Given the description of an element on the screen output the (x, y) to click on. 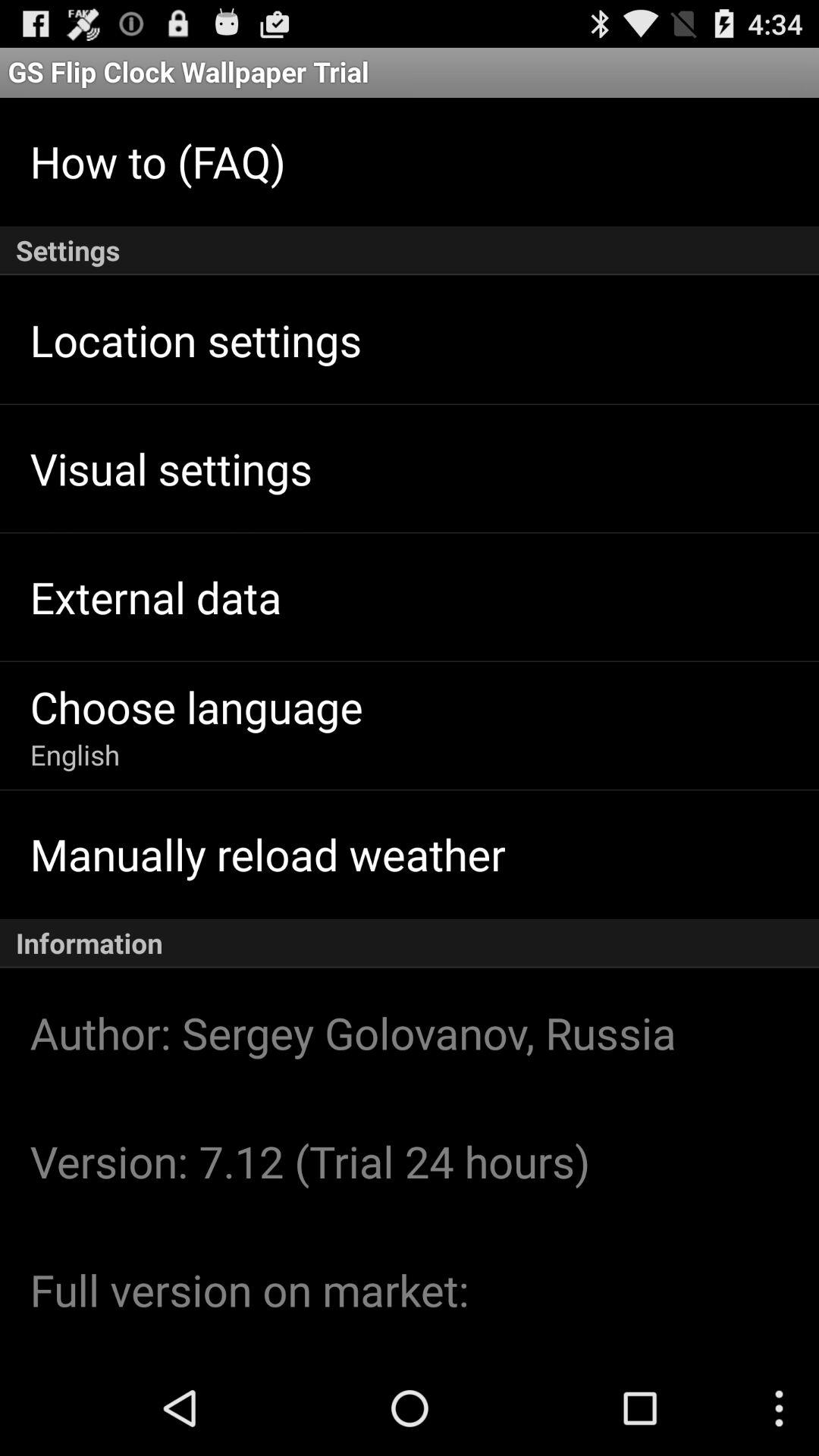
scroll to location settings app (195, 339)
